Given the description of an element on the screen output the (x, y) to click on. 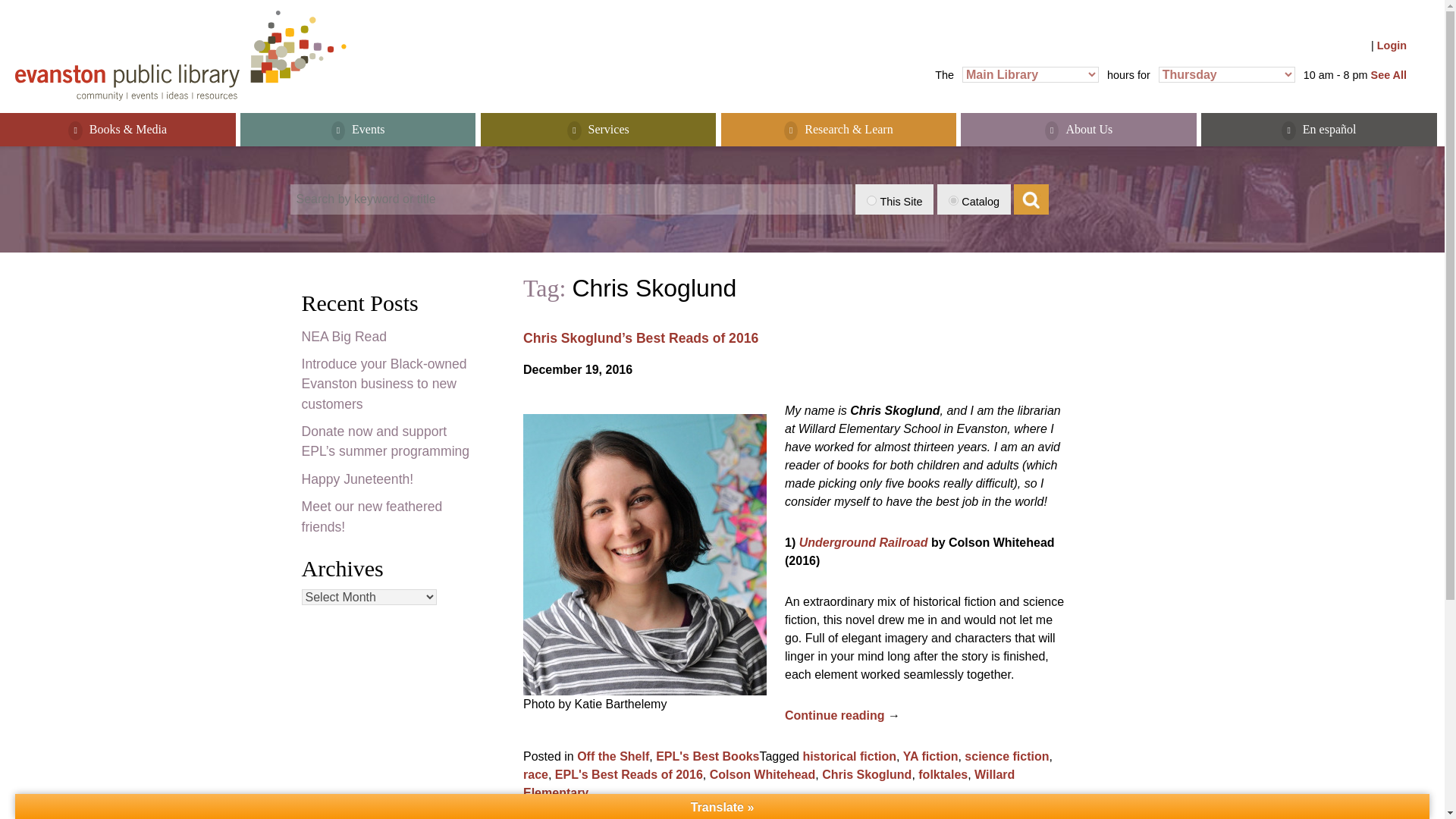
See All (1388, 74)
Login (1391, 45)
on (871, 200)
Events (358, 129)
catalog (953, 200)
